Given the description of an element on the screen output the (x, y) to click on. 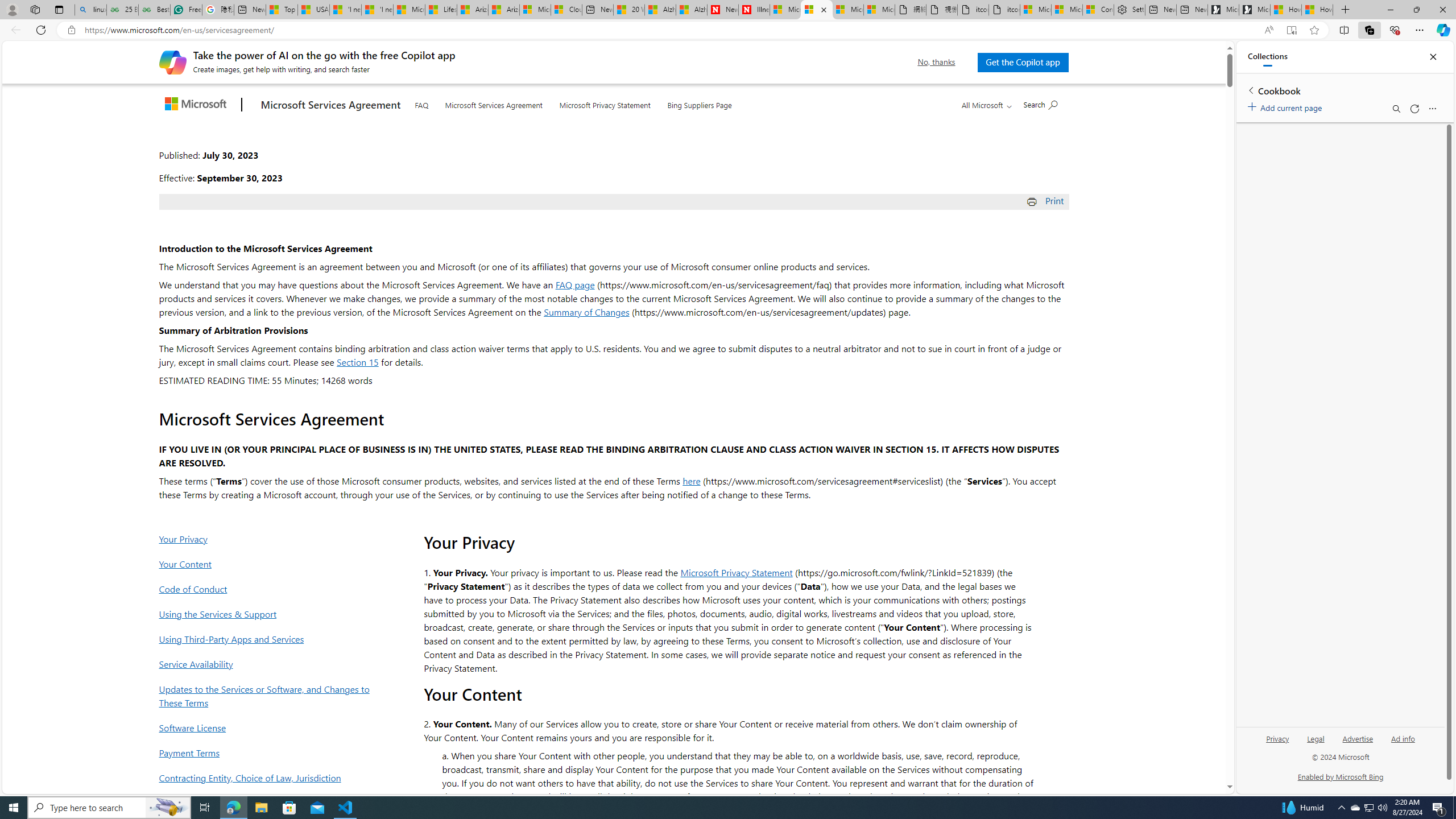
Consumer Health Data Privacy Policy (1097, 9)
Newsweek - News, Analysis, Politics, Business, Technology (722, 9)
Ad info (1402, 742)
Bing Suppliers Page (699, 103)
Code of Conduct (267, 588)
Illness news & latest pictures from Newsweek.com (753, 9)
Legal (1315, 742)
Advertise (1358, 742)
Search Microsoft.com (1039, 103)
Advertise (1357, 738)
Contracting Entity, Choice of Law, Jurisdiction (267, 777)
